Given the description of an element on the screen output the (x, y) to click on. 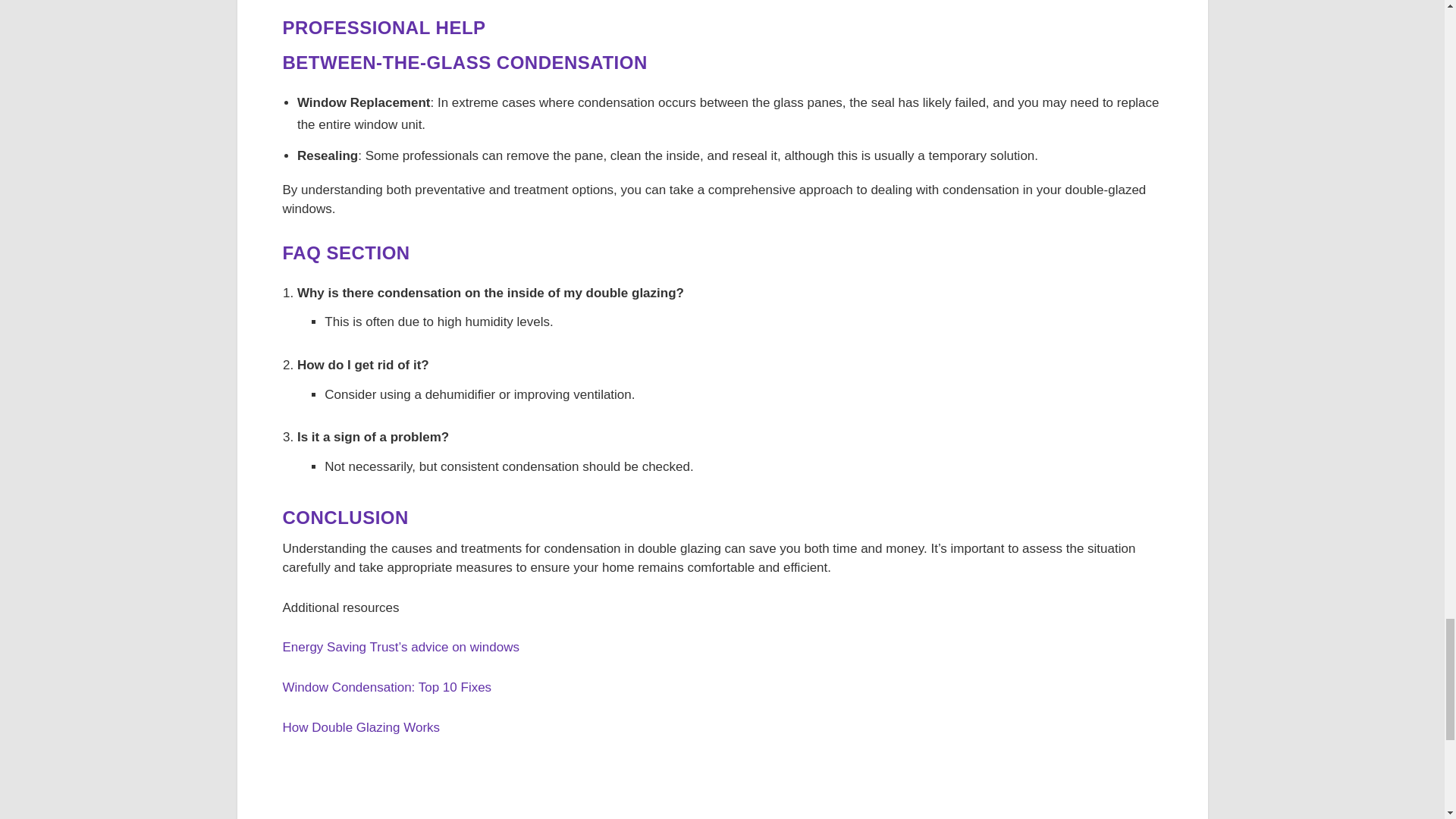
Window Condensation: Top 10 Fixes (387, 687)
How Double Glazing Works (360, 727)
